Given the description of an element on the screen output the (x, y) to click on. 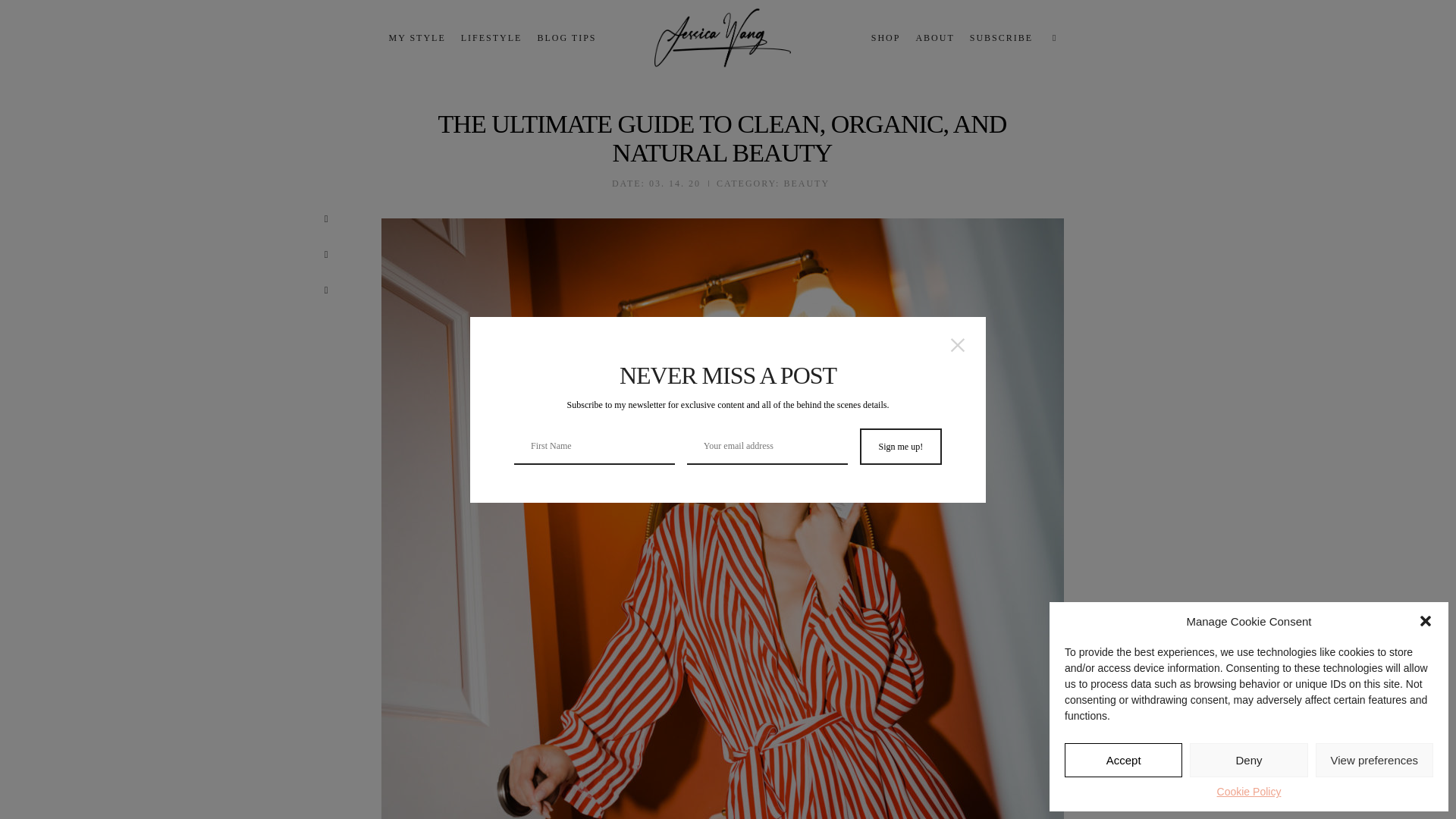
Sign me up! (901, 445)
Cookie Policy (1249, 792)
View preferences (1374, 759)
Accept (1123, 759)
Deny (1248, 759)
Sign me up! (901, 445)
A top New York City based fashion blogger (721, 37)
